Given the description of an element on the screen output the (x, y) to click on. 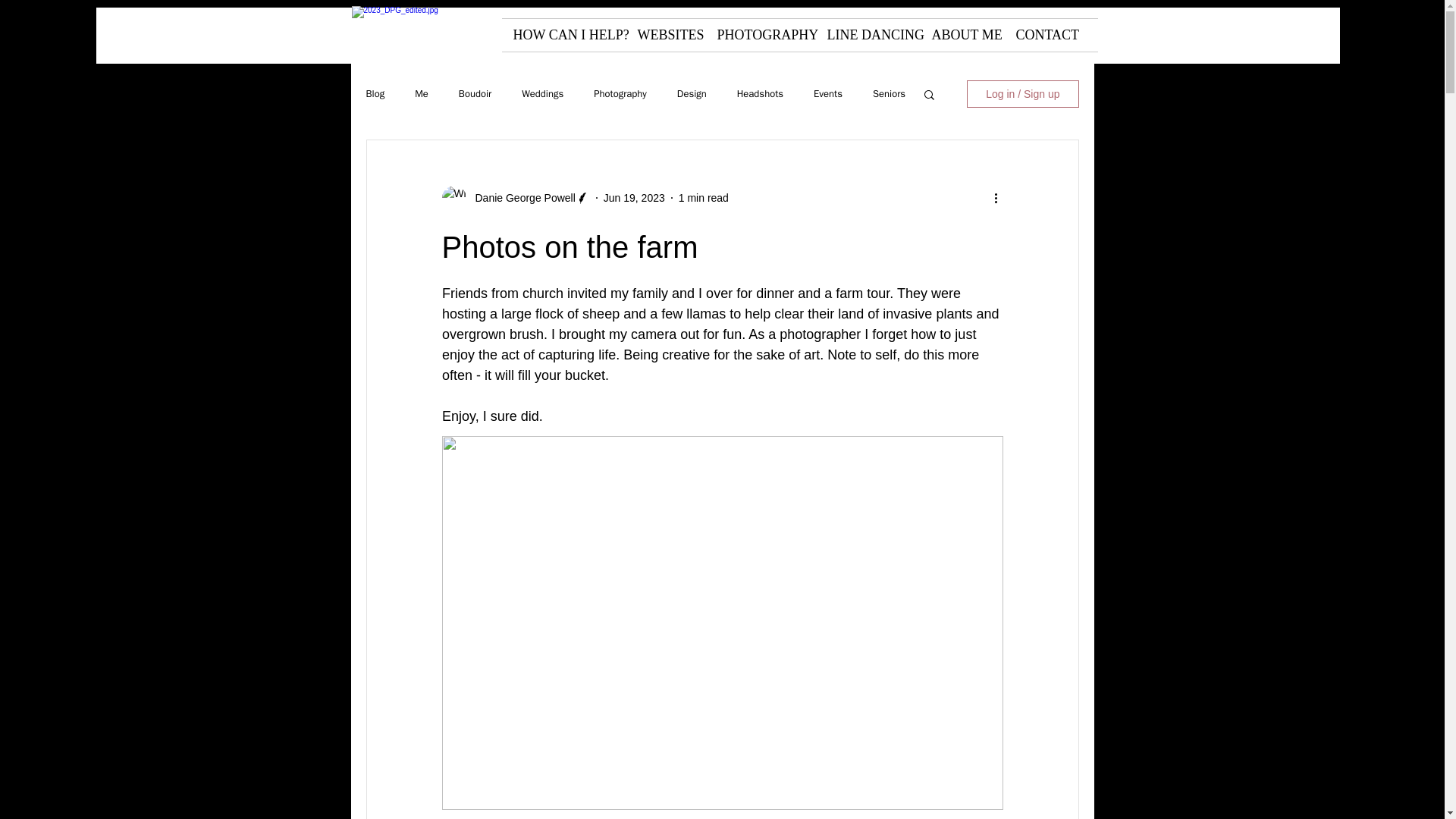
Me (421, 93)
HOW CAN I HELP? (564, 34)
CONTACT (1042, 34)
Jun 19, 2023 (634, 196)
Photography (620, 93)
1 min read (703, 196)
WEBSITES (666, 34)
Events (828, 93)
ABOUT ME (962, 34)
Boudoir (475, 93)
Weddings (542, 93)
Blog (374, 93)
Design (691, 93)
Seniors (888, 93)
Headshots (759, 93)
